Given the description of an element on the screen output the (x, y) to click on. 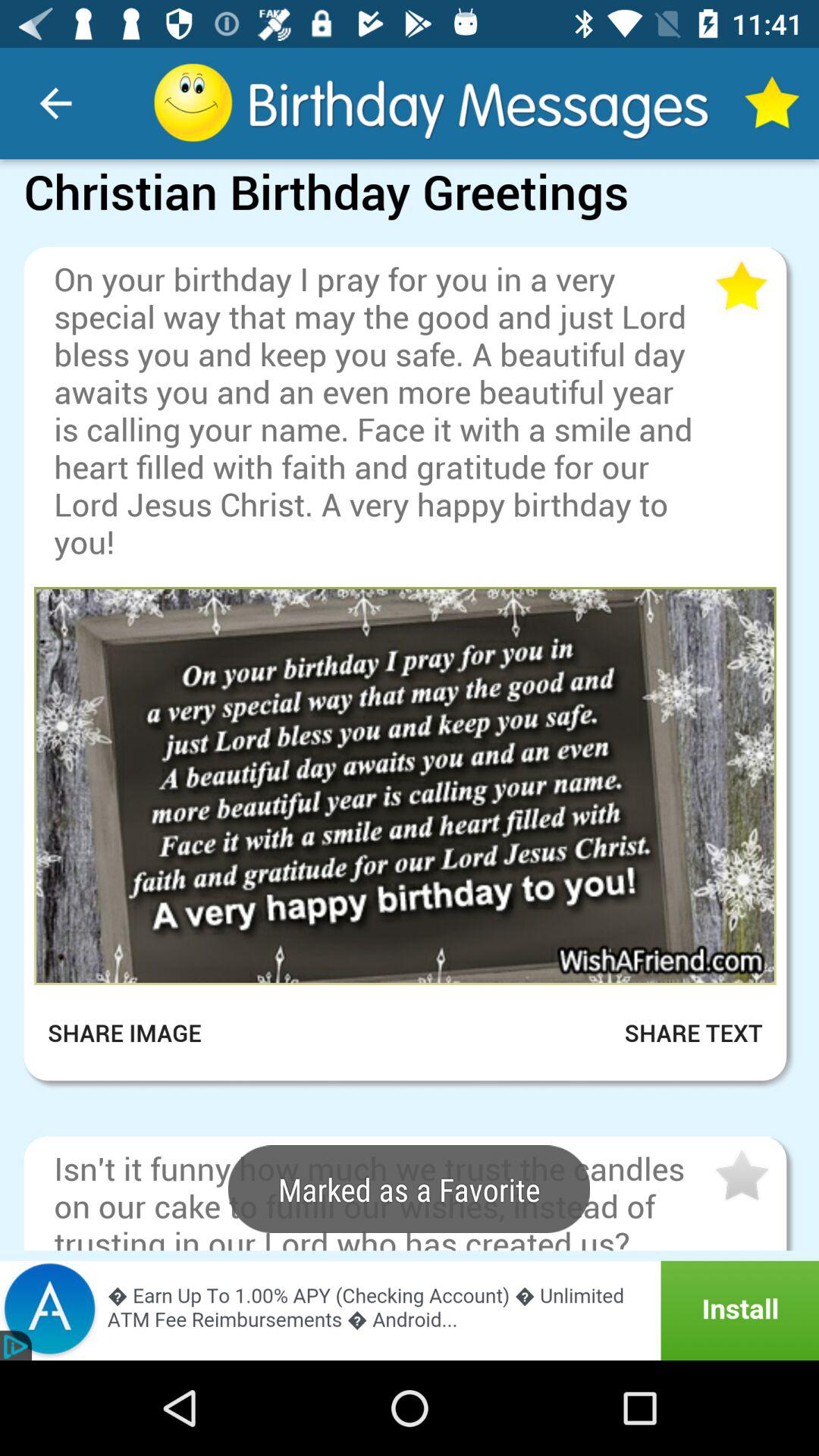
launch the item next to share text icon (134, 1032)
